Given the description of an element on the screen output the (x, y) to click on. 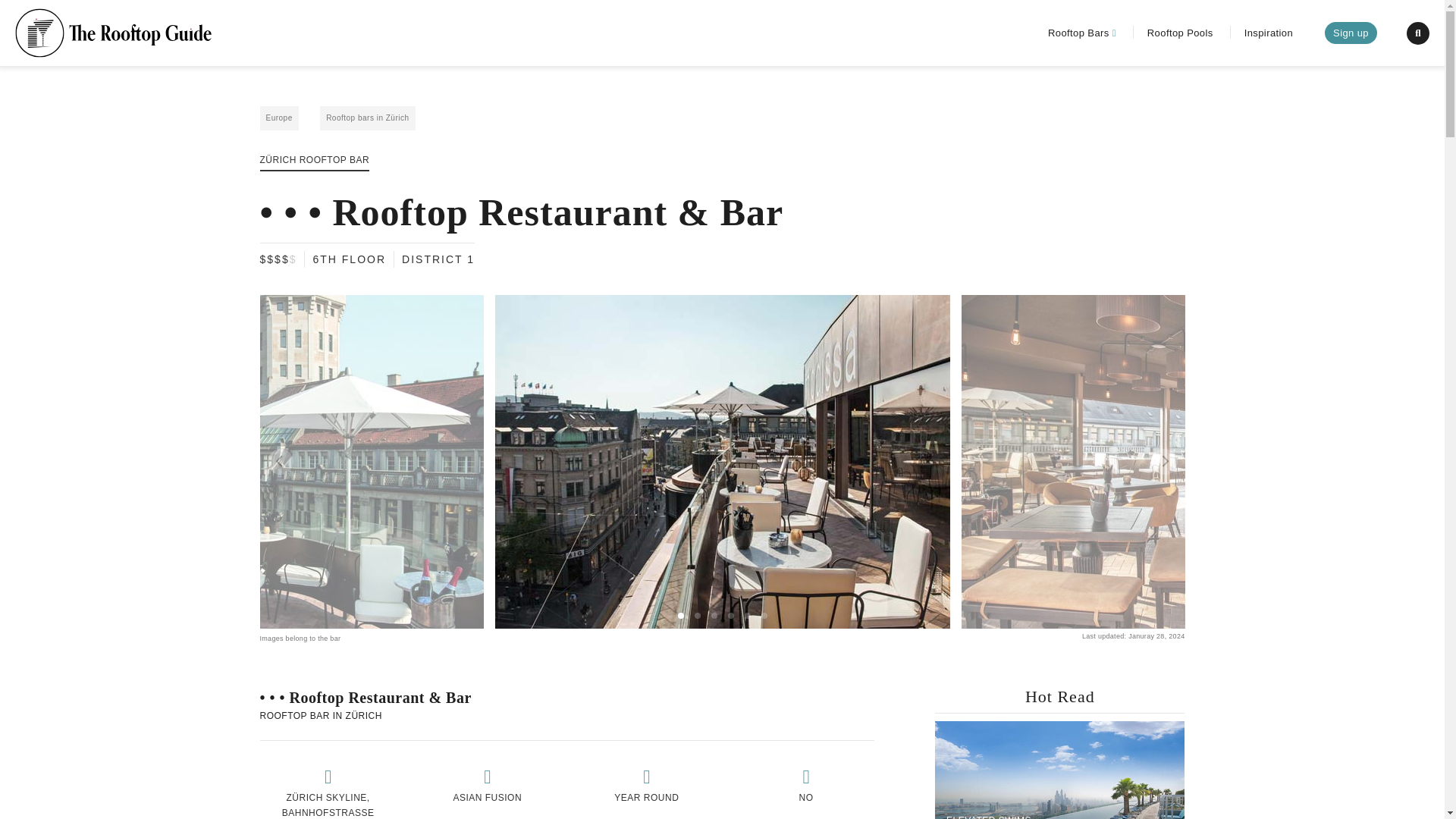
Season (646, 790)
View (327, 790)
Food (487, 790)
Rooftop Bars (1082, 32)
Rooftop Pools (1179, 32)
Rooftop Pool (806, 790)
Inspiration (1268, 32)
Sign up (1350, 33)
Europe (278, 117)
